Given the description of an element on the screen output the (x, y) to click on. 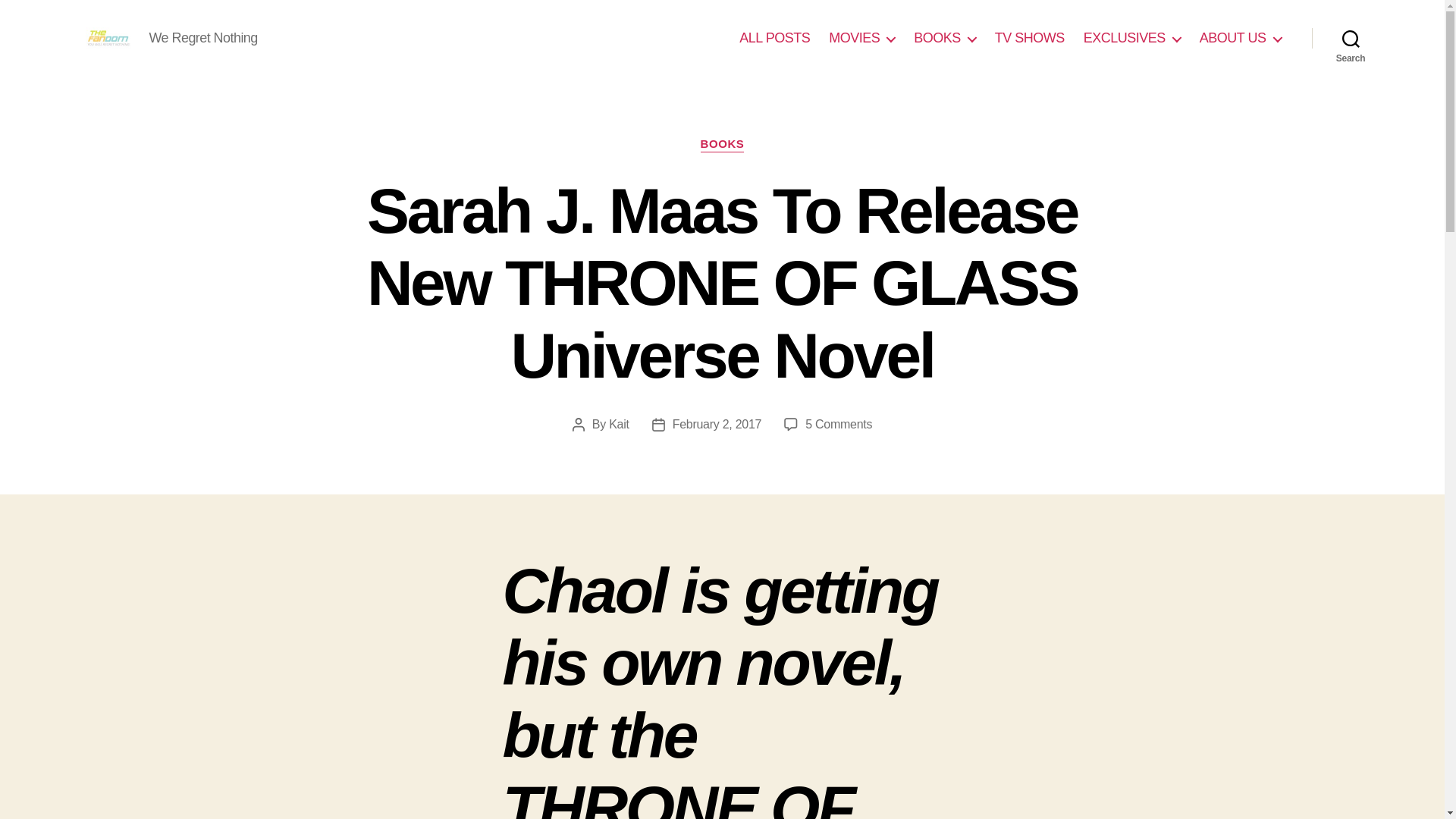
BOOKS (944, 38)
BOOKS (722, 144)
ALL POSTS (774, 38)
EXCLUSIVES (1131, 38)
MOVIES (861, 38)
Kait (618, 423)
TV SHOWS (1029, 38)
ABOUT US (1240, 38)
Search (1350, 37)
